Given the description of an element on the screen output the (x, y) to click on. 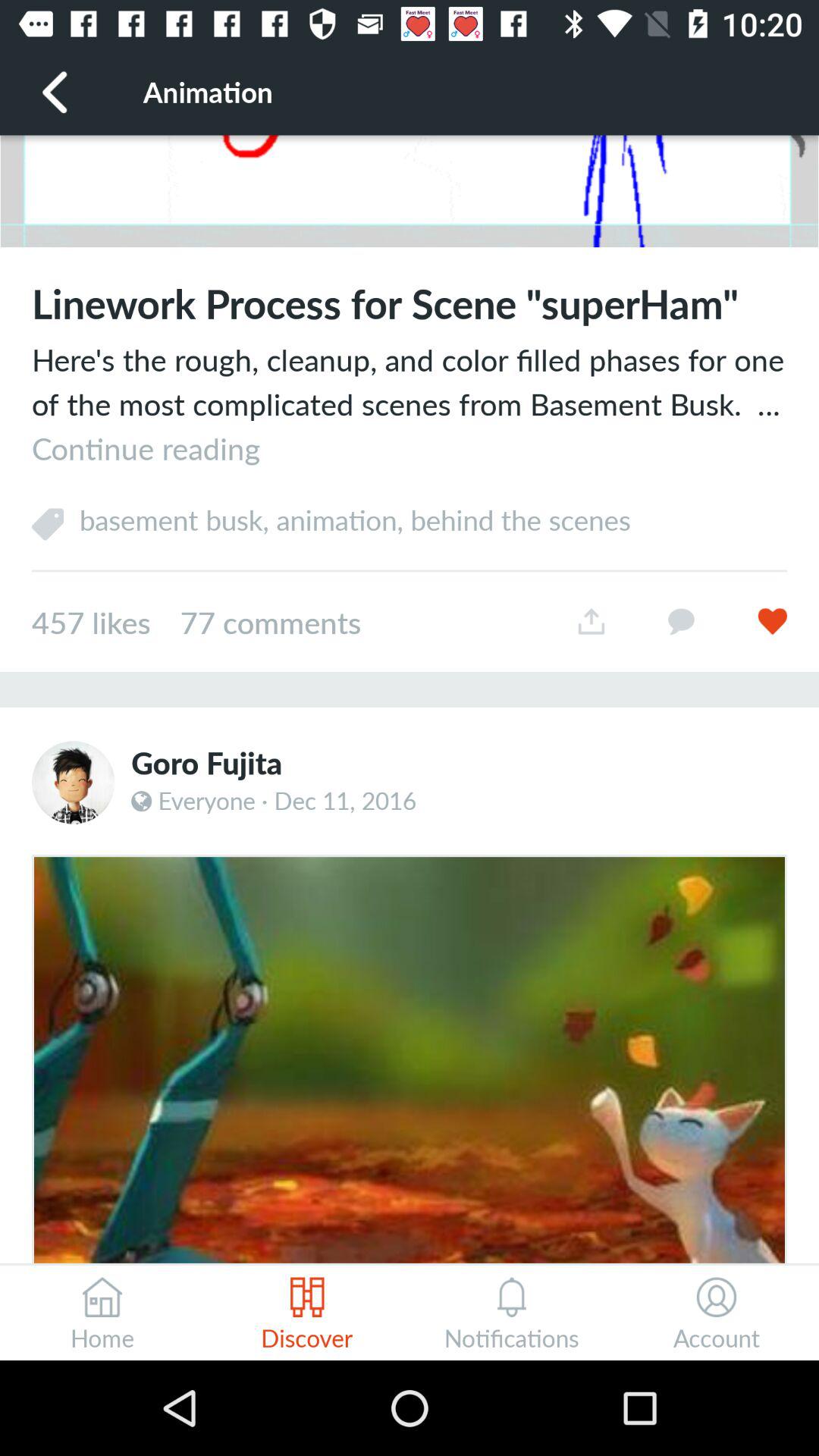
flip to here s the (409, 403)
